Given the description of an element on the screen output the (x, y) to click on. 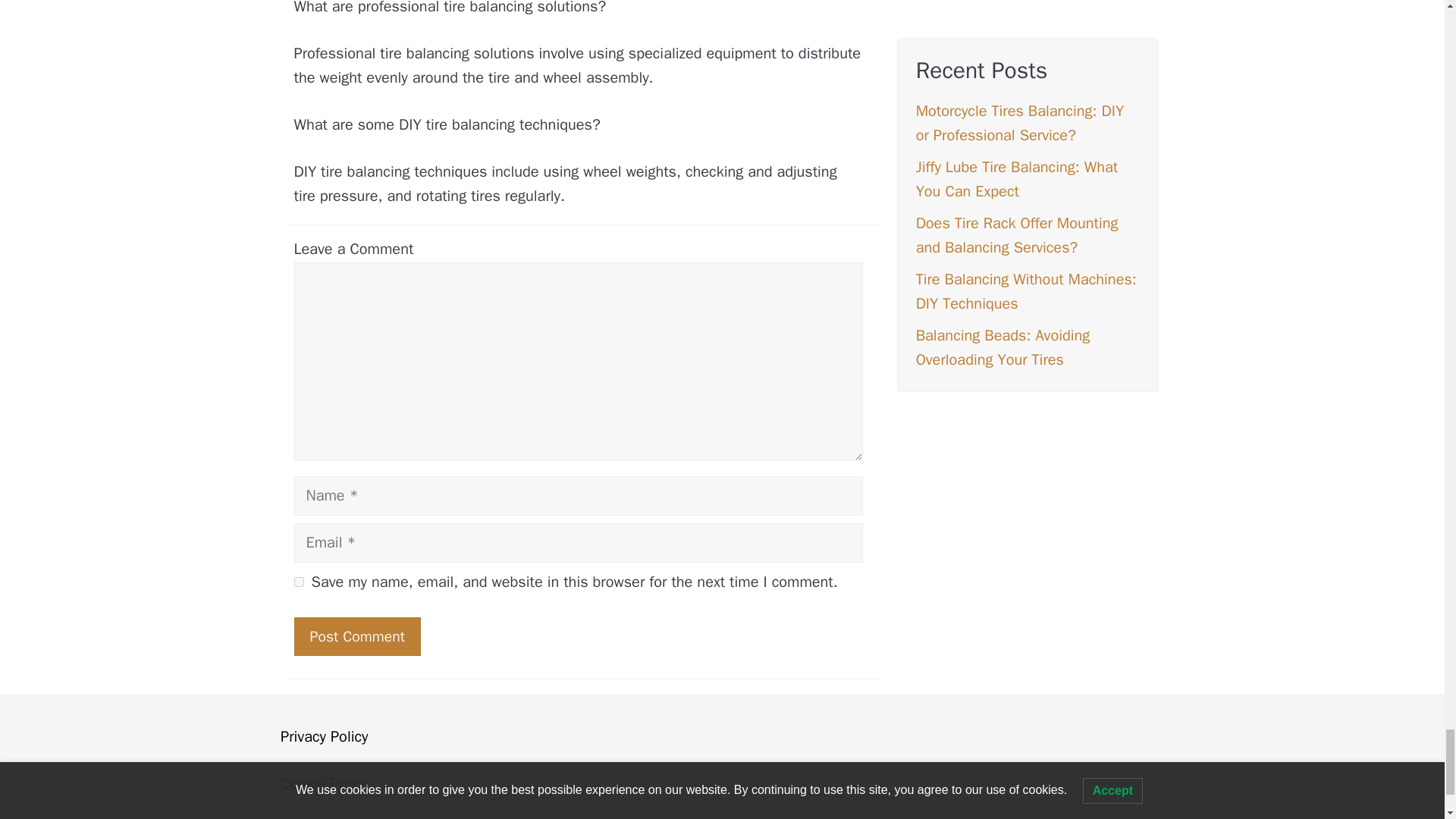
Privacy Policy (324, 736)
Cookie Policy (324, 783)
Post Comment (357, 636)
yes (299, 582)
Post Comment (357, 636)
